Given the description of an element on the screen output the (x, y) to click on. 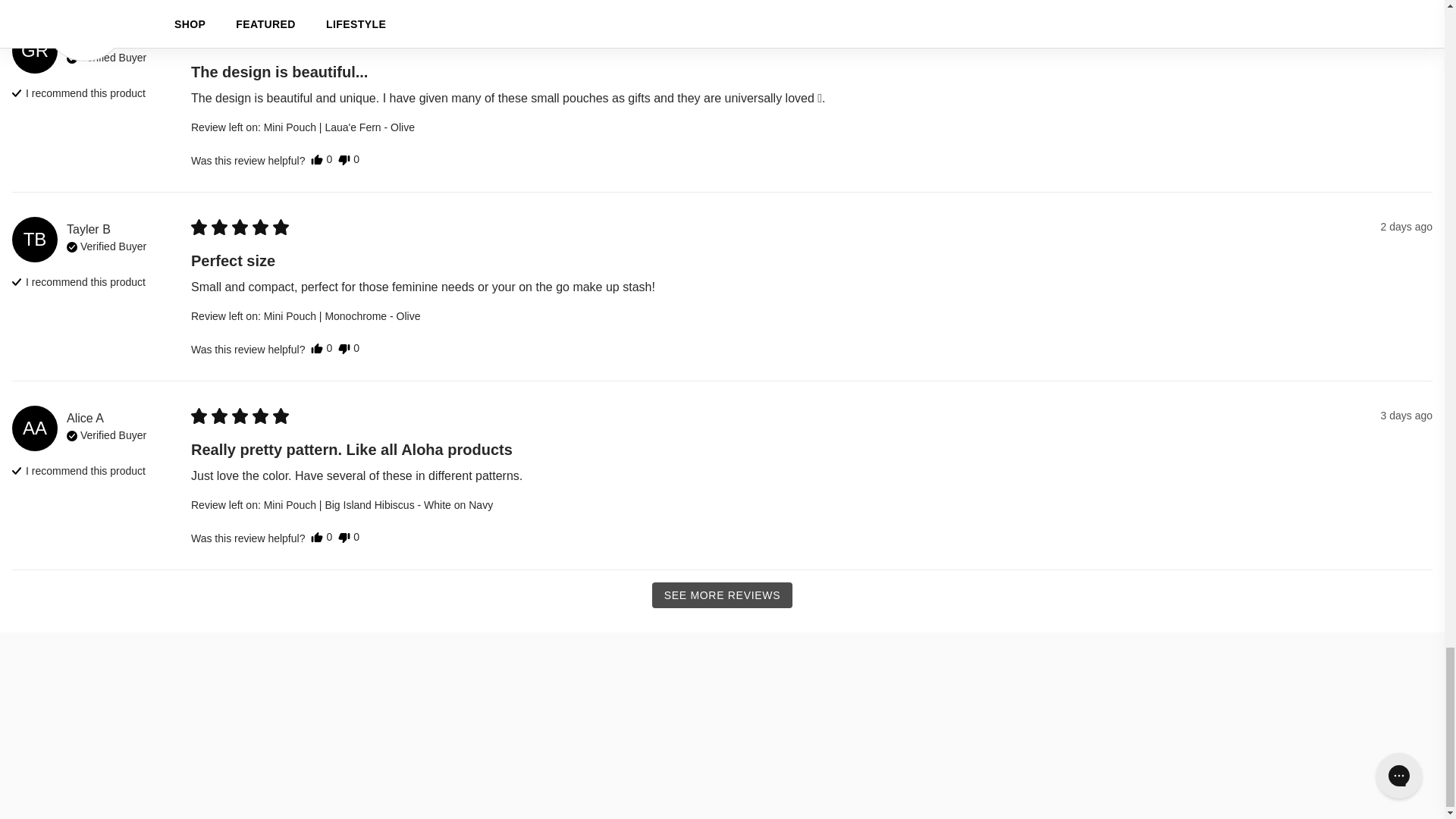
SEE MORE REVIEWS (722, 595)
